Given the description of an element on the screen output the (x, y) to click on. 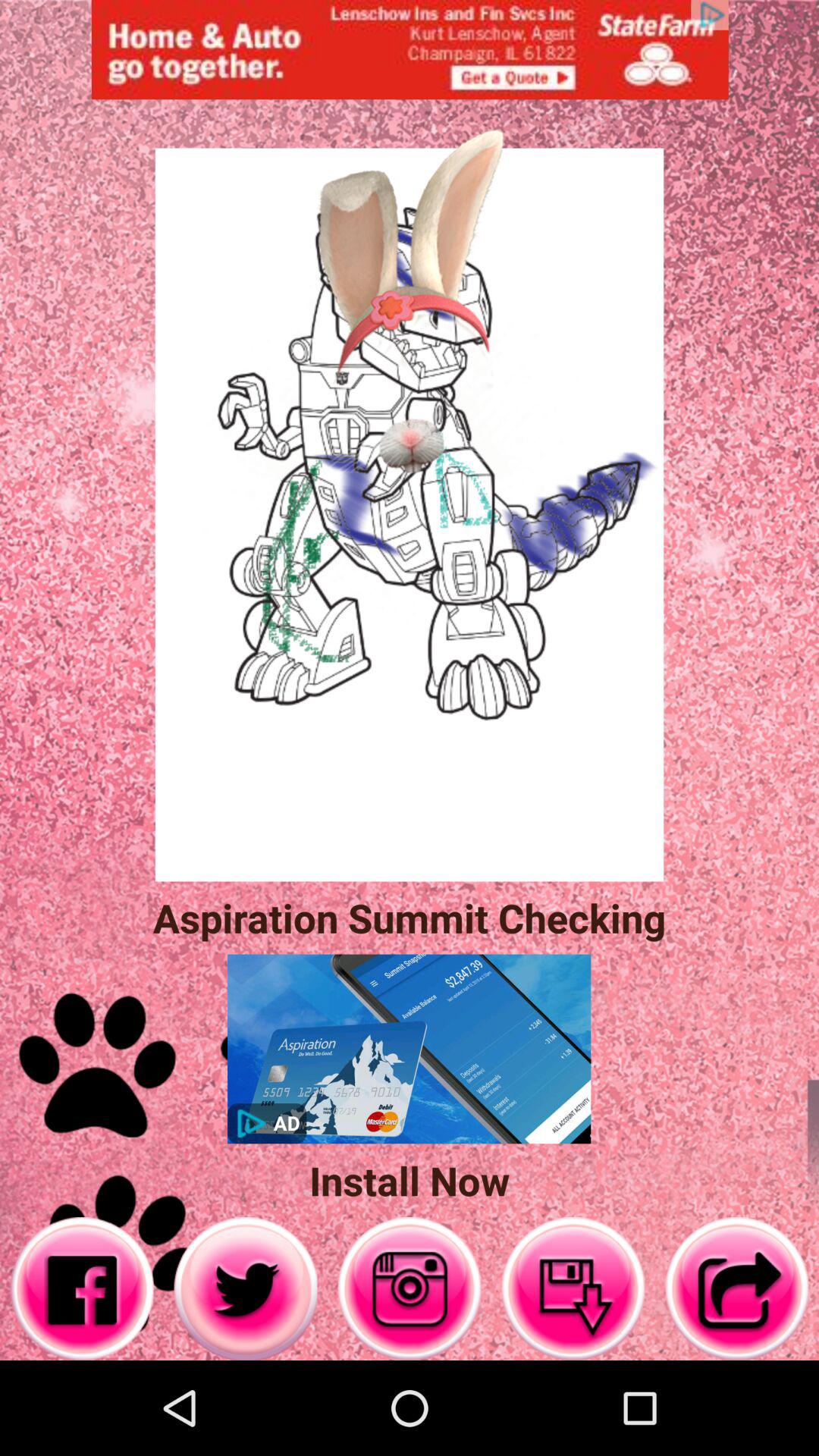
open the advertisements (409, 49)
